Given the description of an element on the screen output the (x, y) to click on. 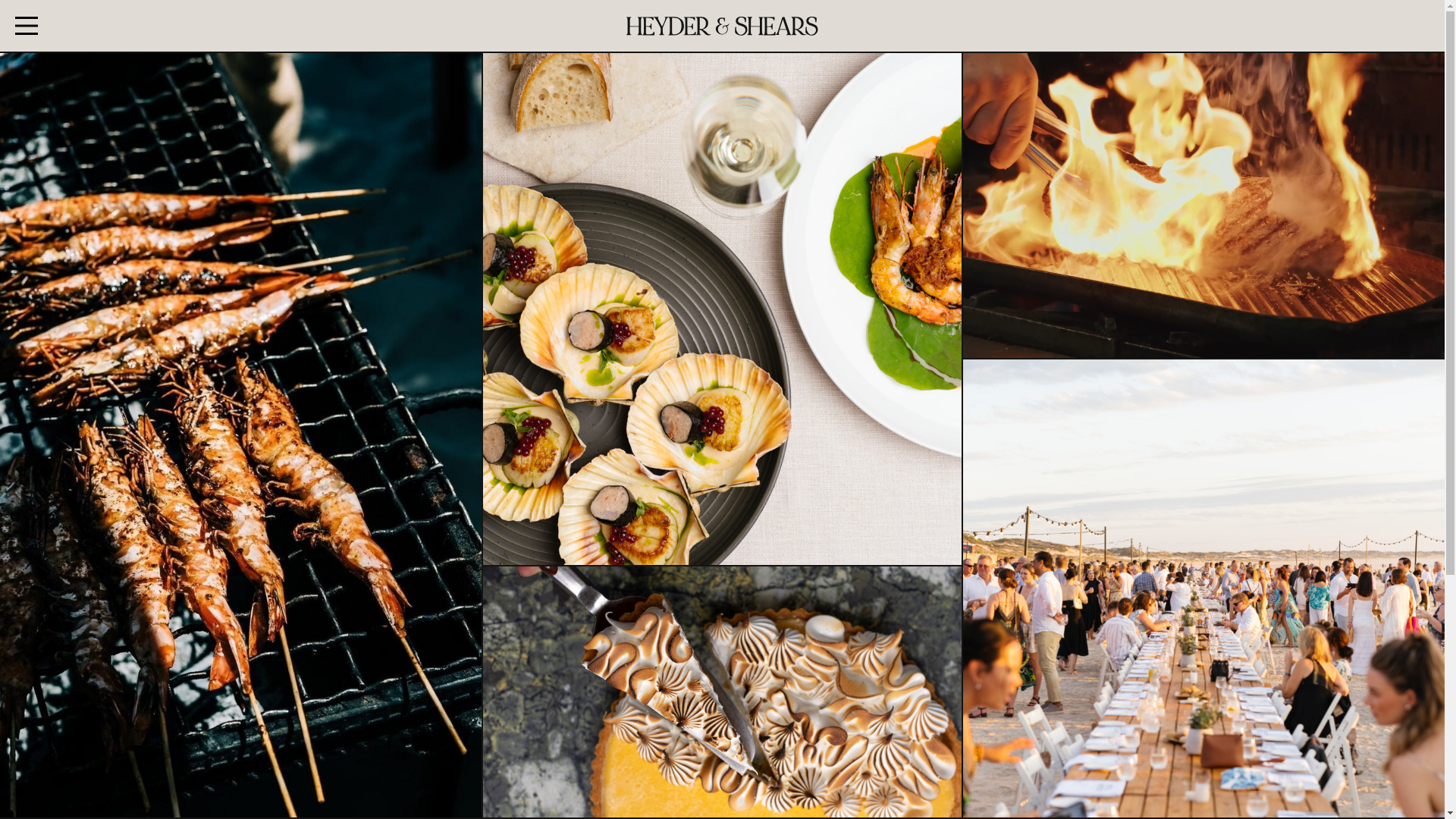
Heyder & Shears Element type: hover (722, 25)
